Given the description of an element on the screen output the (x, y) to click on. 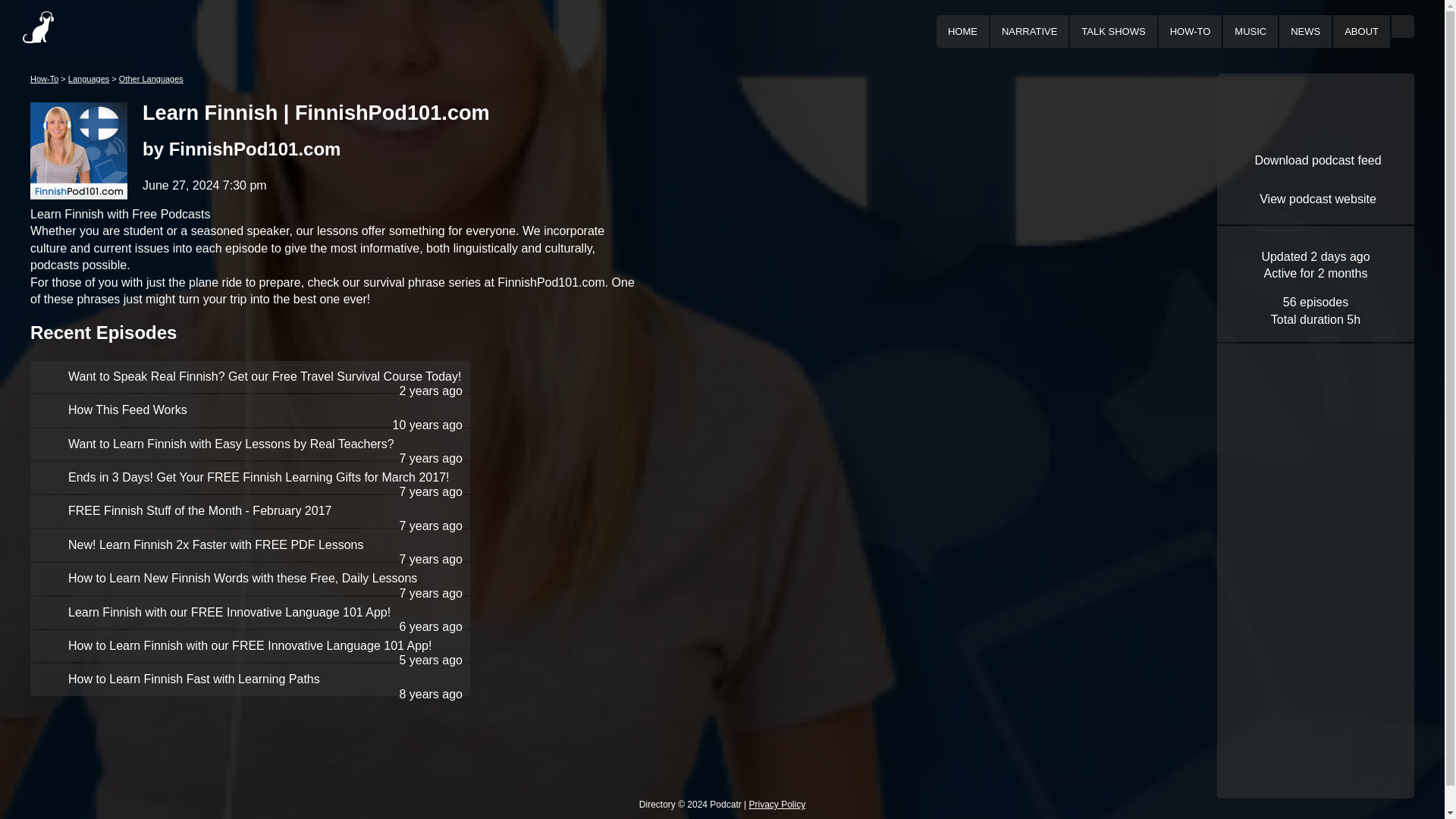
NARRATIVE (1029, 30)
Other Languages (151, 78)
Download podcast feed (1315, 160)
TALK SHOWS (1112, 30)
Podcast website (1315, 199)
Privacy Policy (777, 804)
View podcast website (1315, 199)
NEWS (1305, 30)
ABOUT (1360, 30)
HOW-TO (1190, 30)
How-To (44, 78)
Languages (88, 78)
MUSIC (1250, 30)
Podcast feed (1315, 160)
HOME (961, 30)
